Given the description of an element on the screen output the (x, y) to click on. 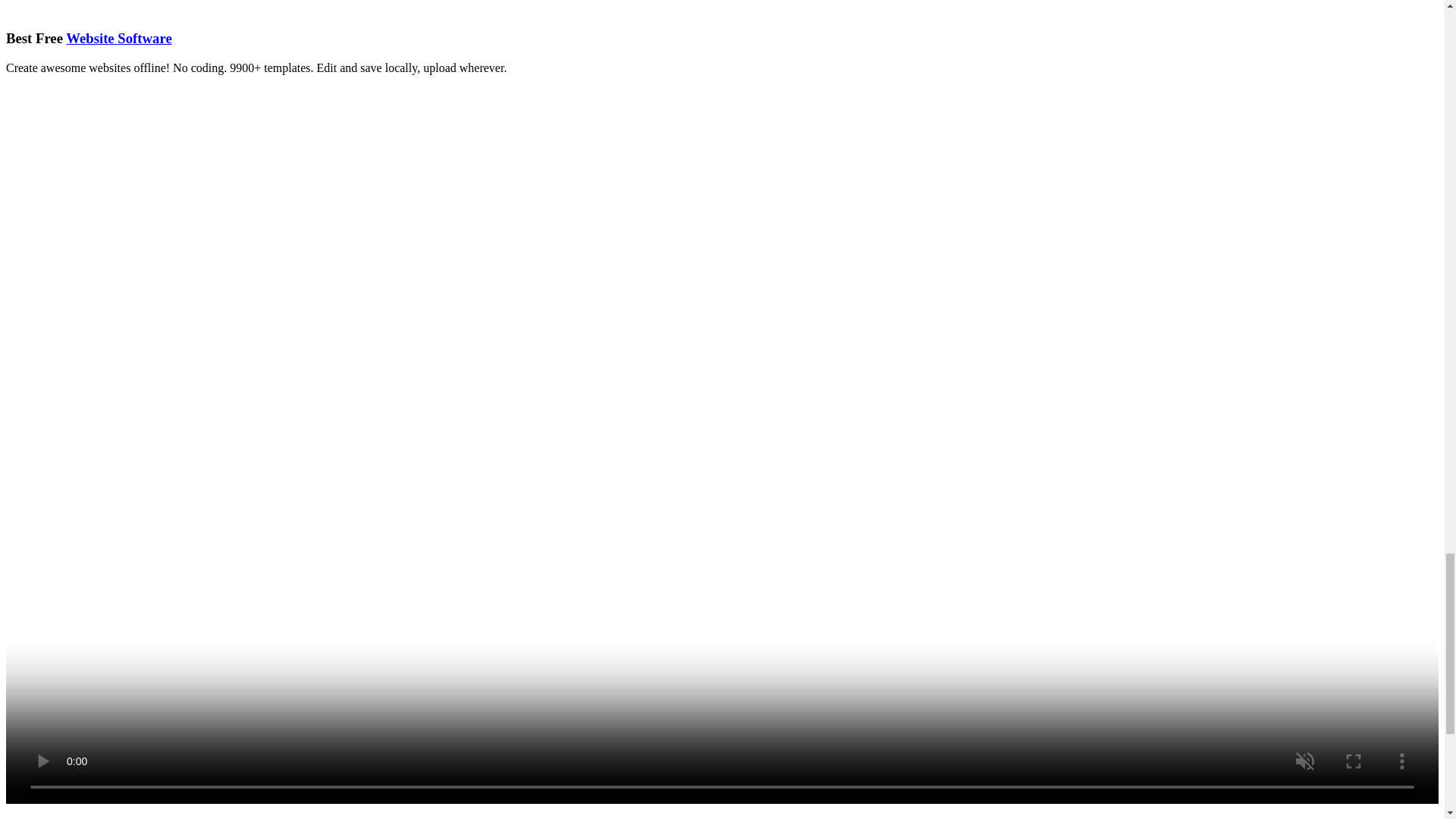
Website Software (118, 37)
